Given the description of an element on the screen output the (x, y) to click on. 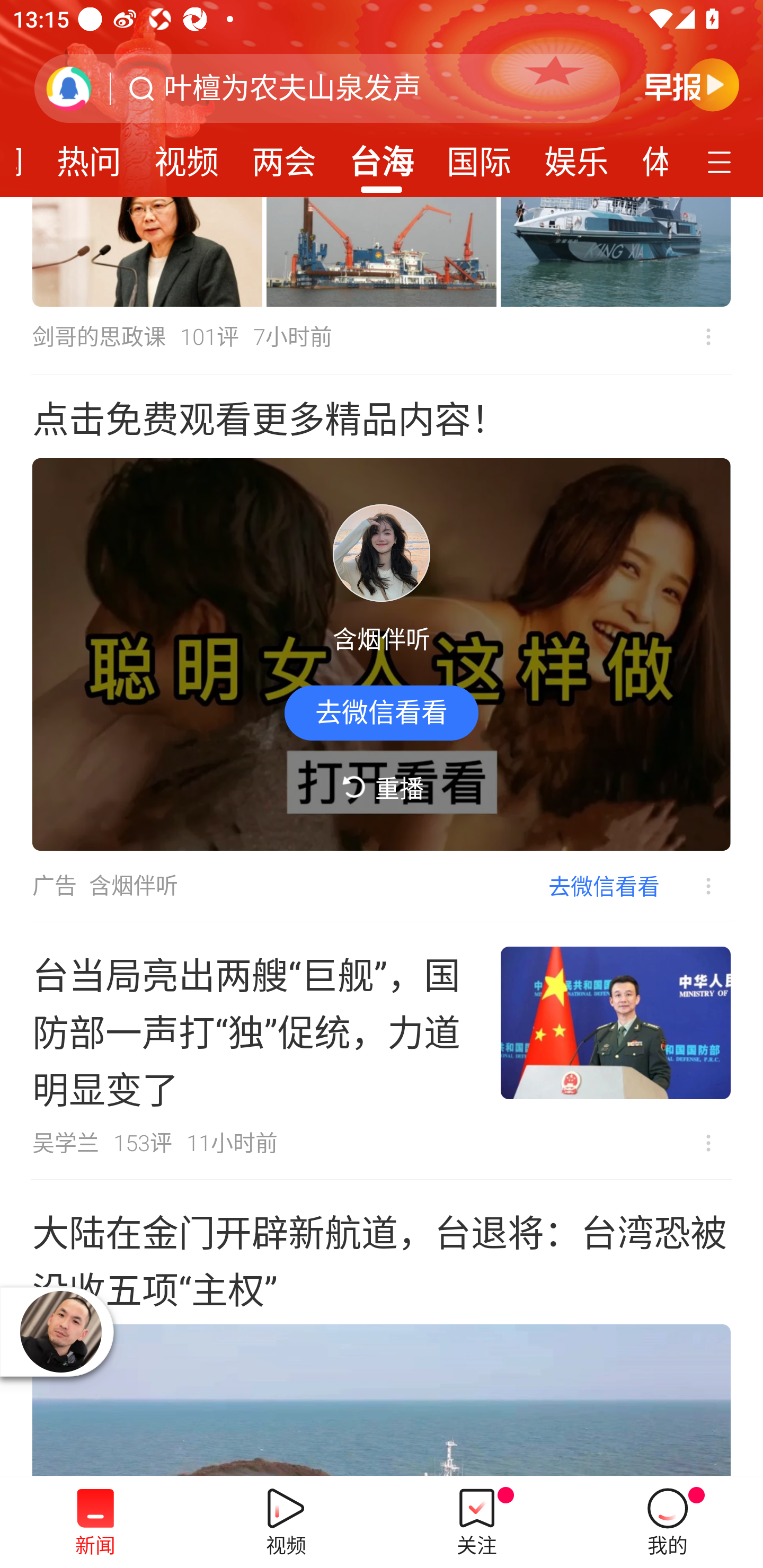
早晚报 (691, 84)
刷新 (68, 88)
叶檀为农夫山泉发声 (292, 88)
热问 (89, 155)
视频 (186, 155)
两会 (283, 155)
台海 (381, 155)
国际 (478, 155)
娱乐 (575, 155)
 定制频道 (721, 160)
图片 图片 图片 剑哥的思政课 101评 7小时前  不感兴趣 (381, 285)
 不感兴趣 (707, 337)
点击免费观看更多精品内容！ 含烟伴听 去微信看看 重播 广告 含烟伴听 去微信看看  不感兴趣 (381, 647)
含烟伴听 去微信看看 重播 (381, 654)
去微信看看 (381, 712)
重播 (381, 787)
 不感兴趣 (694, 886)
去微信看看 (603, 885)
广告 (54, 885)
含烟伴听 (133, 885)
 不感兴趣 (707, 1143)
大陆在金门开辟新航道，台退将：台湾恐被没收五项“主权” (381, 1328)
播放器 (60, 1331)
